Given the description of an element on the screen output the (x, y) to click on. 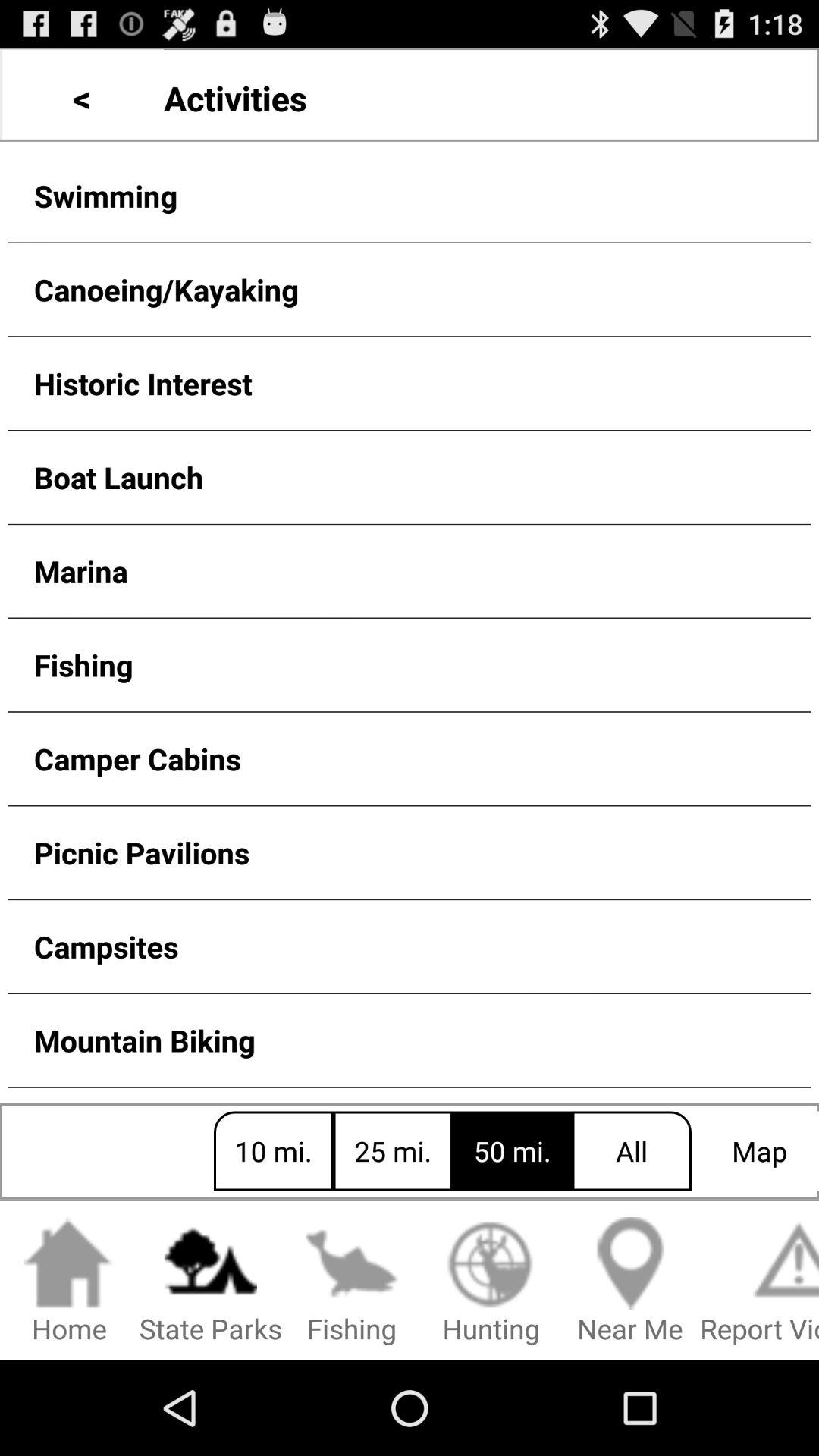
scroll until the all icon (631, 1150)
